Given the description of an element on the screen output the (x, y) to click on. 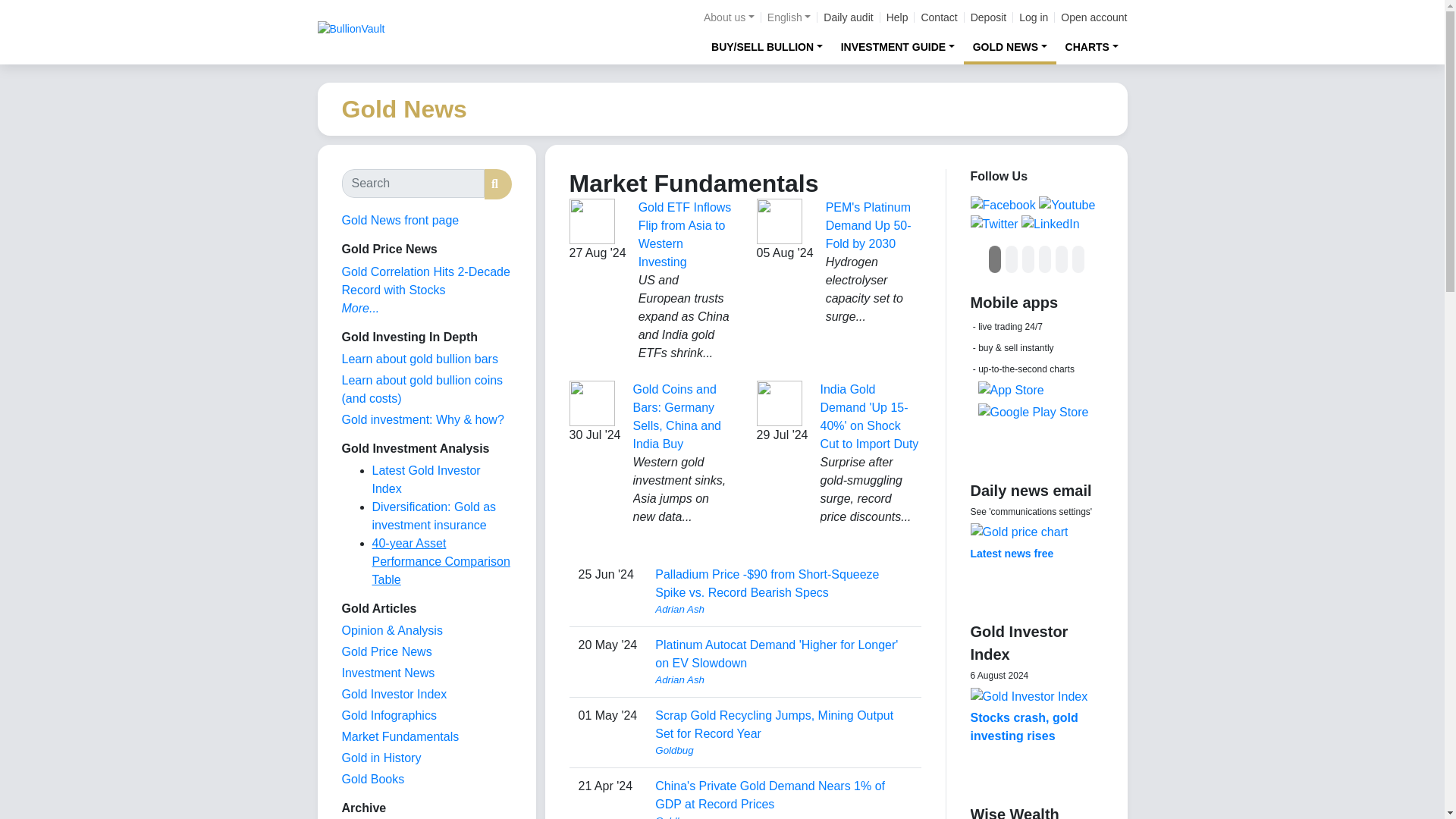
Gold Investor Index (393, 694)
English (788, 17)
Daily audit (848, 17)
View user profile. (783, 679)
View user profile. (783, 609)
Open account (1093, 17)
Investment News (386, 672)
View user profile. (783, 816)
Market Fundamentals (399, 736)
Contact (938, 17)
